Given the description of an element on the screen output the (x, y) to click on. 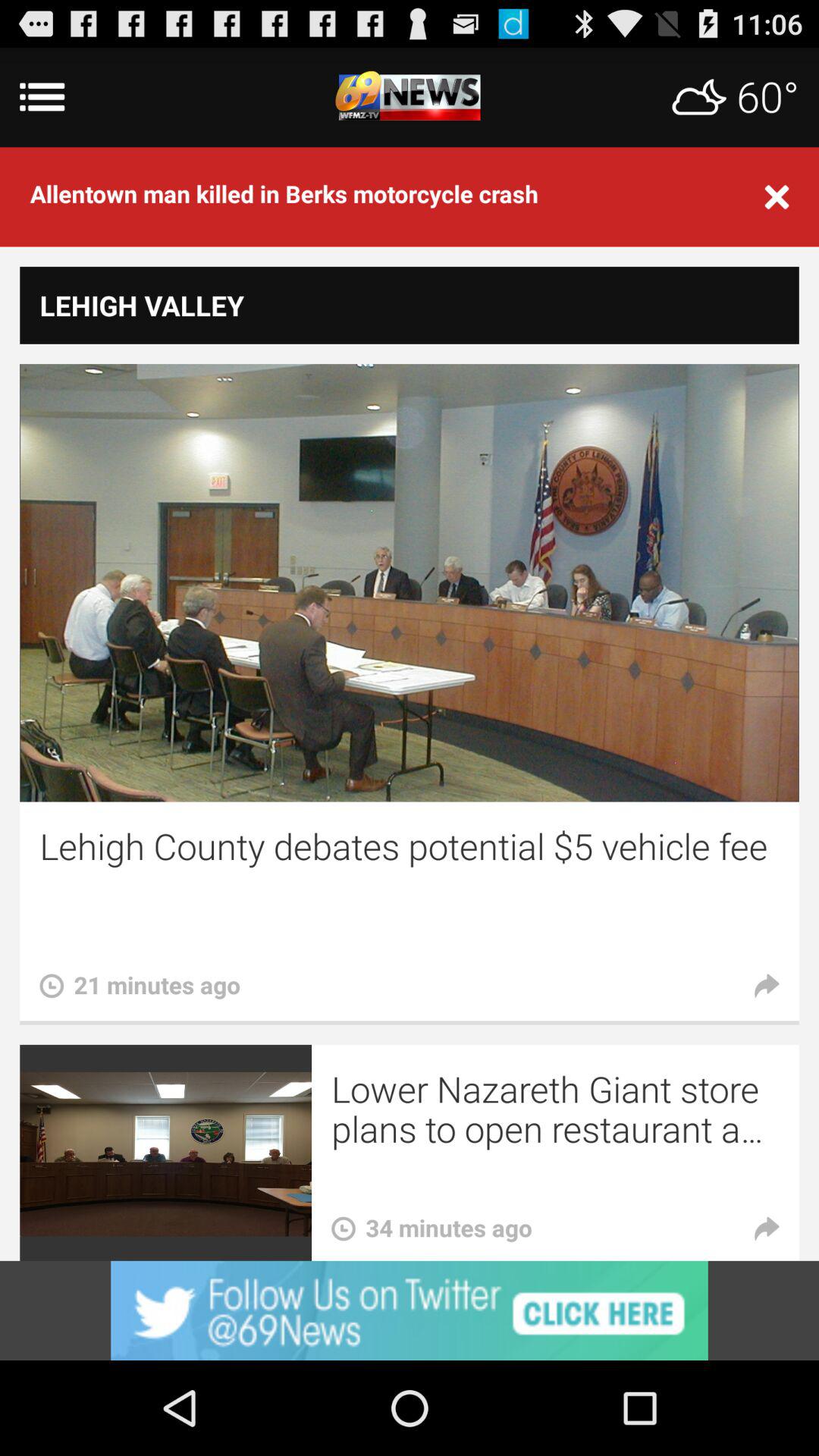
return to 69 news homepage (409, 97)
